Given the description of an element on the screen output the (x, y) to click on. 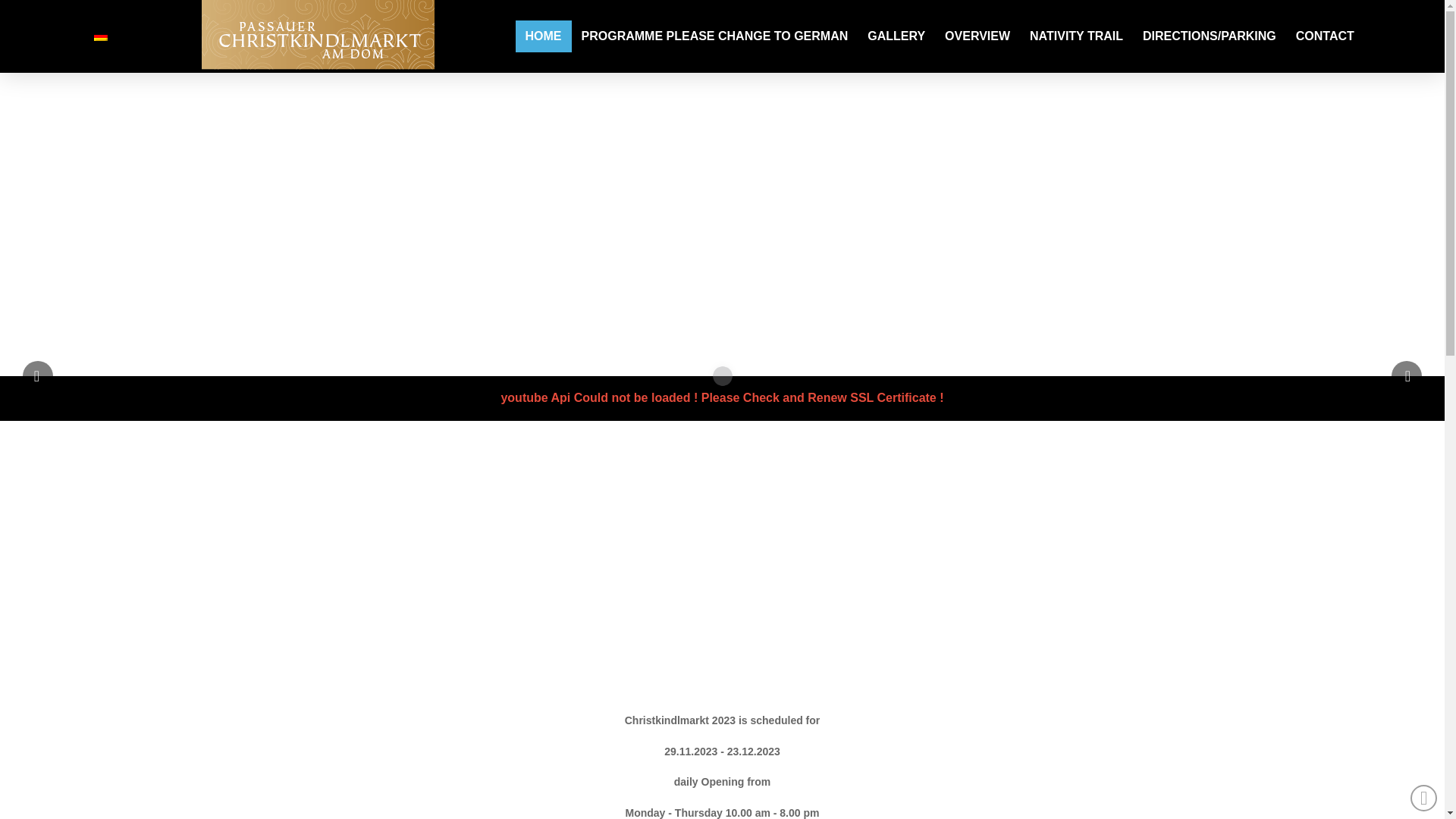
PROGRAMME PLEASE CHANGE TO GERMAN (715, 36)
HOME (543, 36)
CONTACT (1324, 36)
Back to Top (1423, 797)
GALLERY (895, 36)
NATIVITY TRAIL (1076, 36)
OVERVIEW (977, 36)
